Given the description of an element on the screen output the (x, y) to click on. 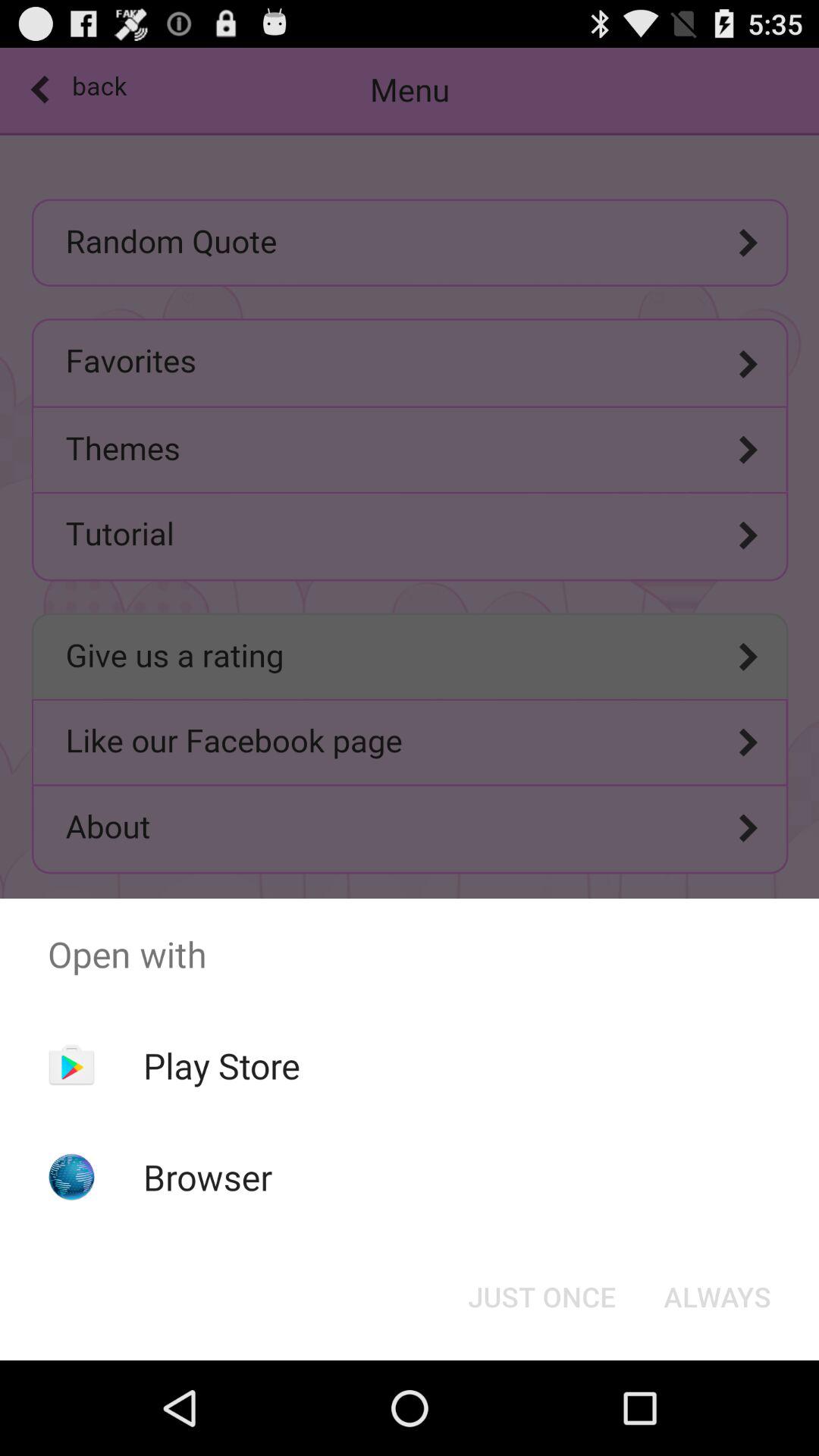
choose item below the play store app (207, 1176)
